Given the description of an element on the screen output the (x, y) to click on. 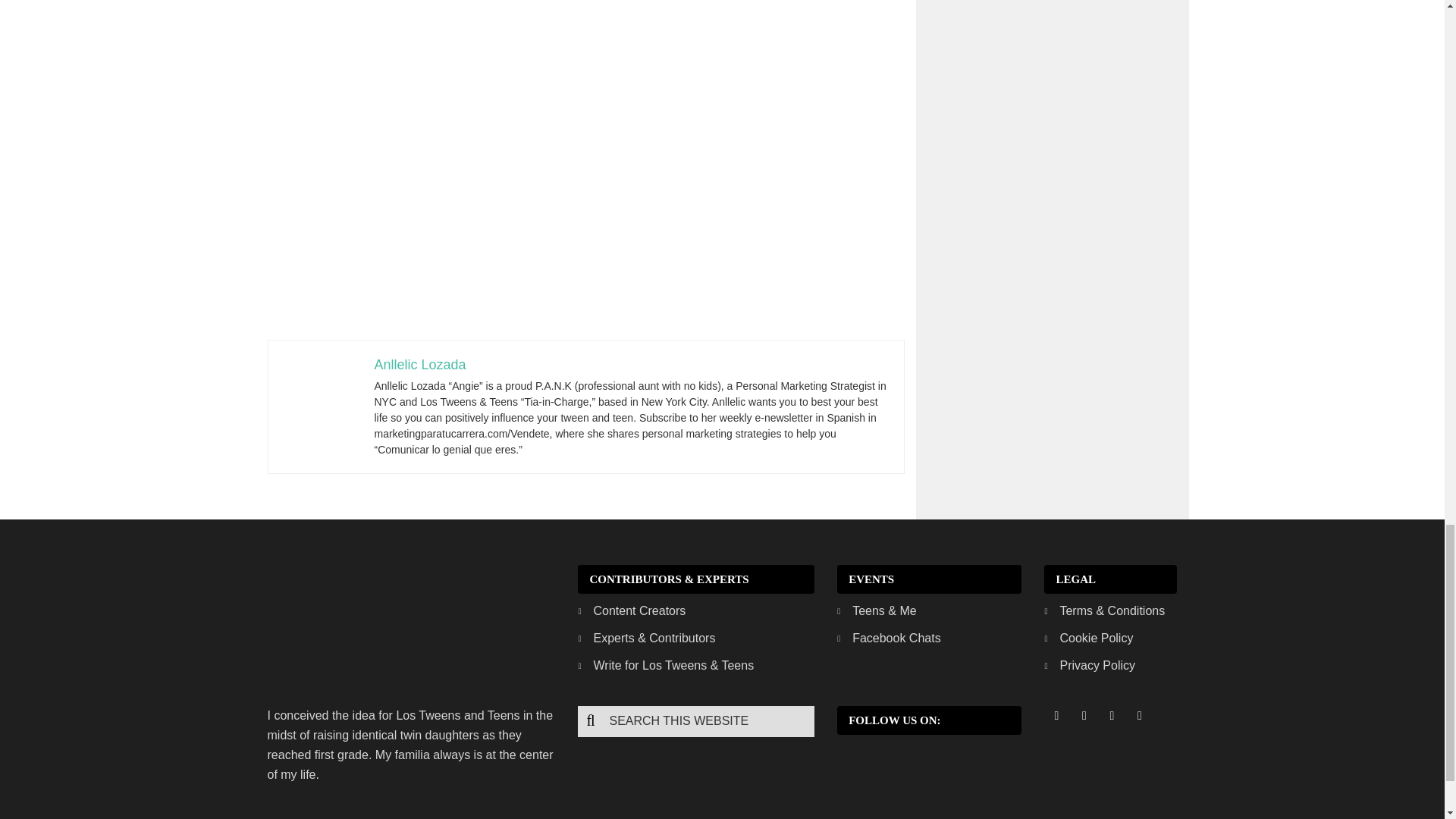
Lostweens Facebook (1055, 715)
Lostweens Twitter (1083, 715)
Lostweens Instagram (1111, 715)
Lostweens Youtube (1138, 715)
